Given the description of an element on the screen output the (x, y) to click on. 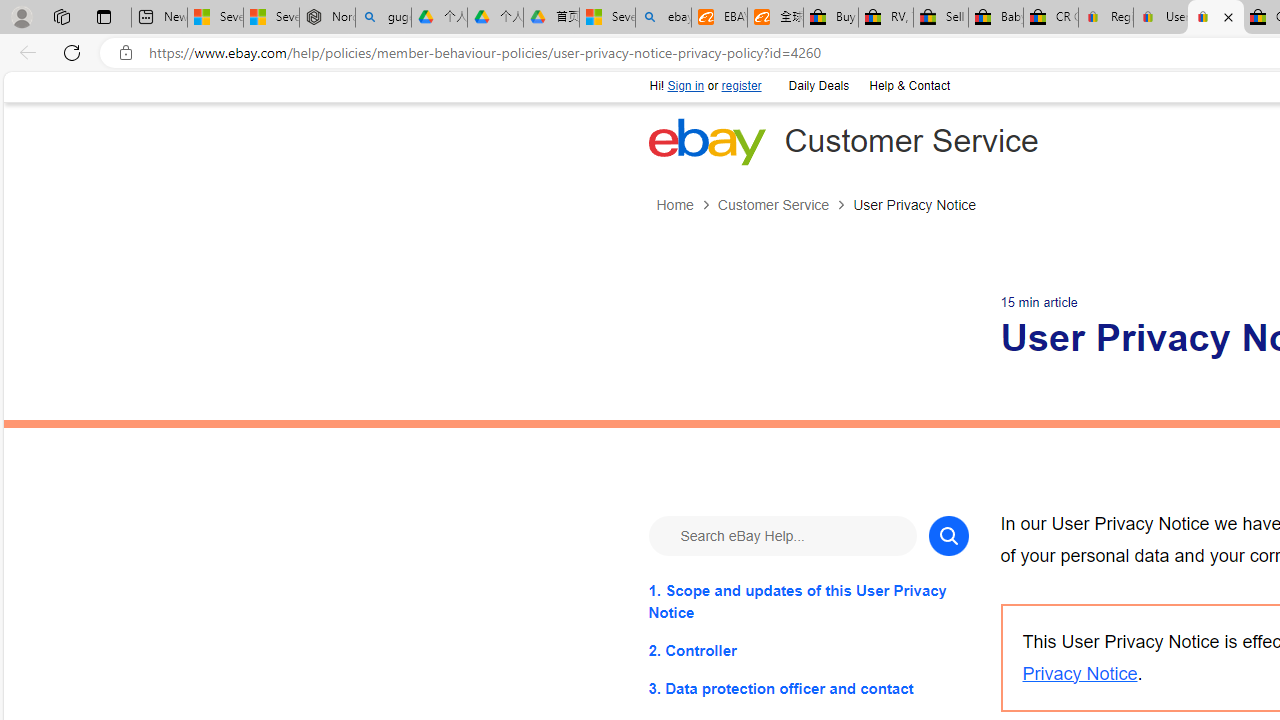
Customer Service (772, 205)
3. Data protection officer and contact (807, 687)
User Privacy Notice | eBay (1215, 17)
Sell worldwide with eBay (940, 17)
1. Scope and updates of this User Privacy Notice (807, 601)
Daily Deals (817, 84)
3. Data protection officer and contact (807, 687)
User Privacy Notice (914, 205)
Buy Auto Parts & Accessories | eBay (830, 17)
